Given the description of an element on the screen output the (x, y) to click on. 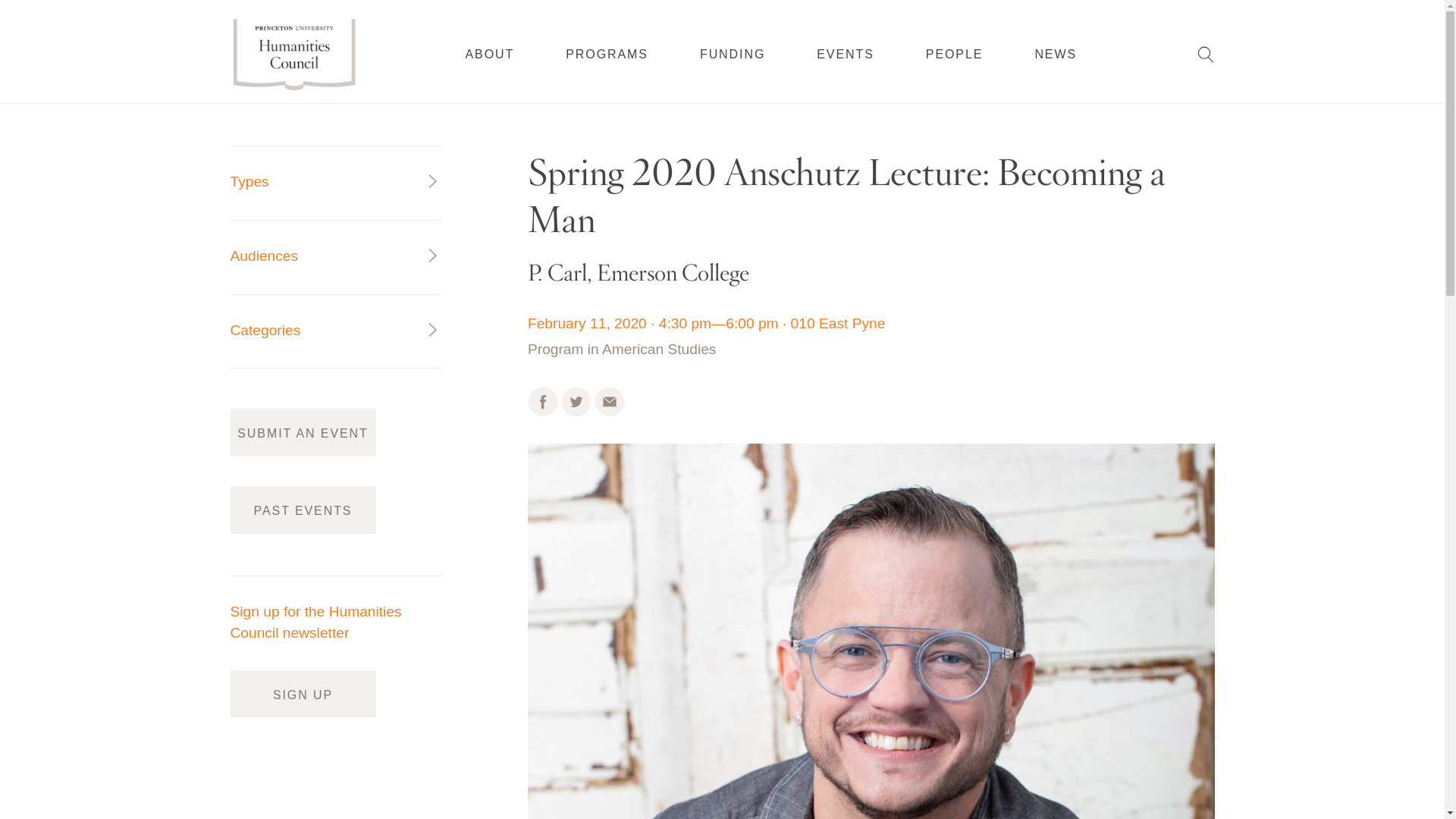
EVENTS (845, 54)
NEWS (1055, 53)
PEOPLE (955, 53)
FUNDING (732, 54)
ABOUT (490, 54)
PROGRAMS (606, 54)
